Given the description of an element on the screen output the (x, y) to click on. 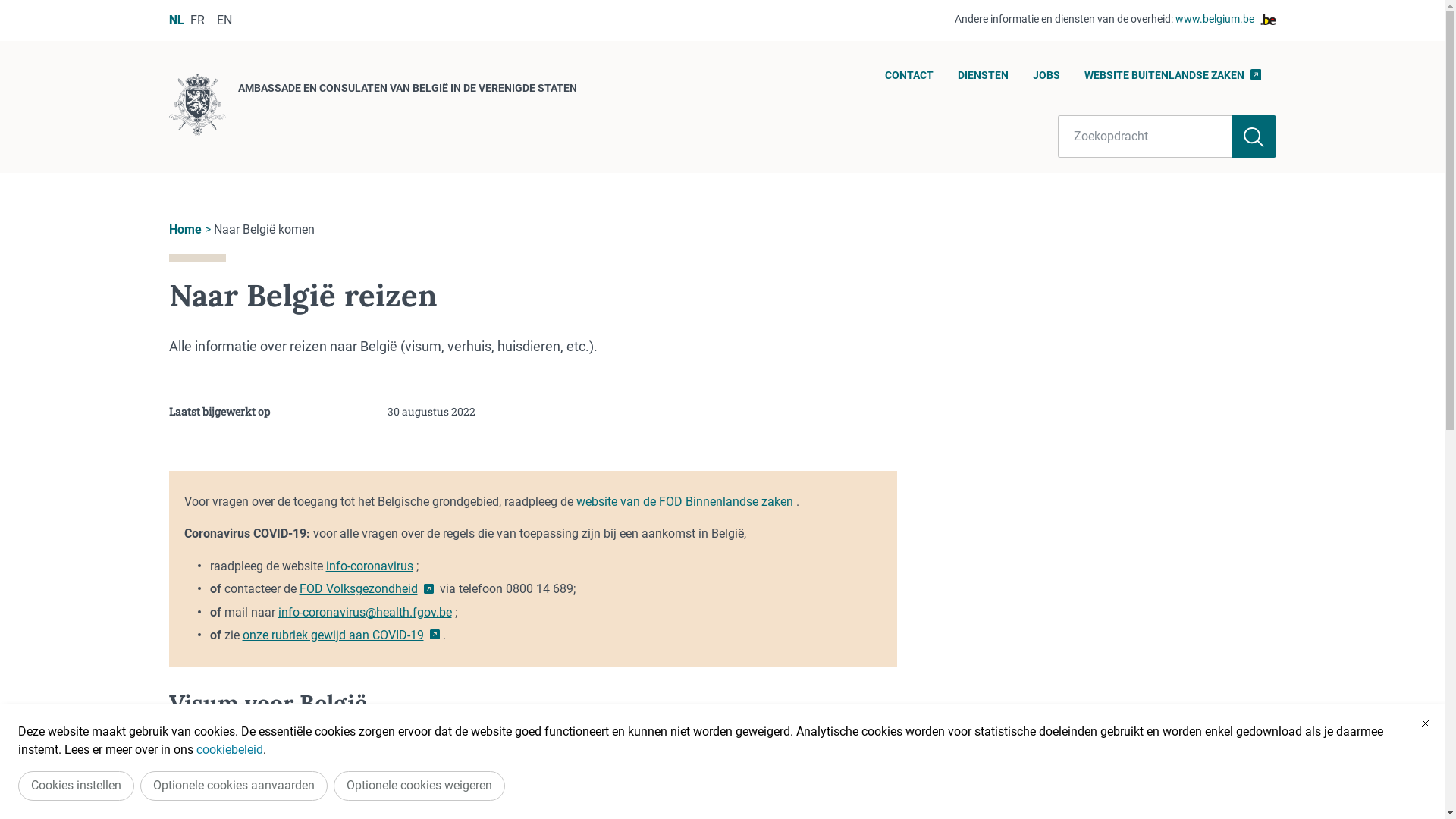
Home Element type: text (184, 229)
info-coronavirus Element type: text (369, 565)
DIENSTEN Element type: text (982, 79)
website van de FOD Binnenlandse zaken Element type: text (684, 501)
WEBSITE BUITENLANDSE ZAKEN Element type: text (1172, 79)
info-coronavirus@health.fgov.be Element type: text (364, 612)
NL Element type: text (175, 19)
EN Element type: text (224, 19)
Optionele cookies aanvaarden Element type: text (233, 785)
Sluiten Element type: hover (1425, 723)
JOBS Element type: text (1046, 79)
Skip to main content Element type: text (7, 4)
Zoekopdracht Element type: hover (1144, 136)
Cookies instellen Element type: text (76, 785)
Portaalsite van de federale overheid Element type: text (363, 785)
CONTACT Element type: text (908, 79)
Optionele cookies weigeren Element type: text (419, 785)
FR Element type: text (196, 19)
FOD Volksgezondheid Element type: text (365, 588)
onze rubriek gewijd aan COVID-19 Element type: text (341, 634)
Filteren Element type: text (1253, 136)
cookiebeleid Element type: text (229, 749)
www.belgium.be Element type: text (1225, 19)
